Given the description of an element on the screen output the (x, y) to click on. 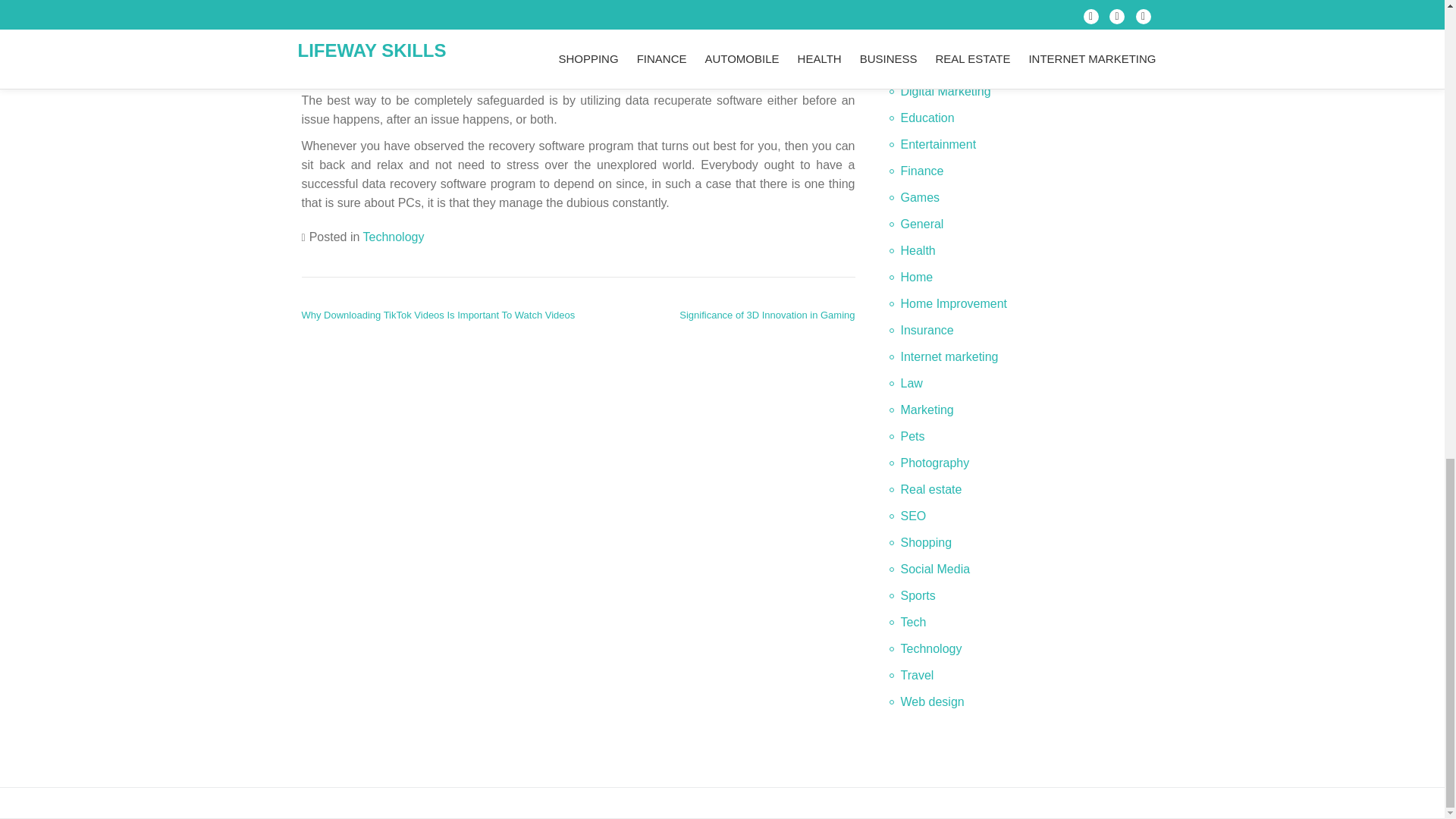
Education (928, 117)
Automobile (930, 11)
Entertainment (938, 144)
Celebration (931, 64)
Insurance (927, 329)
Home Improvement (954, 303)
Games (920, 196)
Significance of 3D Innovation in Gaming (766, 315)
Home (917, 277)
Business (925, 38)
Health (918, 250)
Technology (392, 236)
Why Downloading TikTok Videos Is Important To Watch Videos (438, 315)
Finance (922, 170)
General (922, 223)
